Given the description of an element on the screen output the (x, y) to click on. 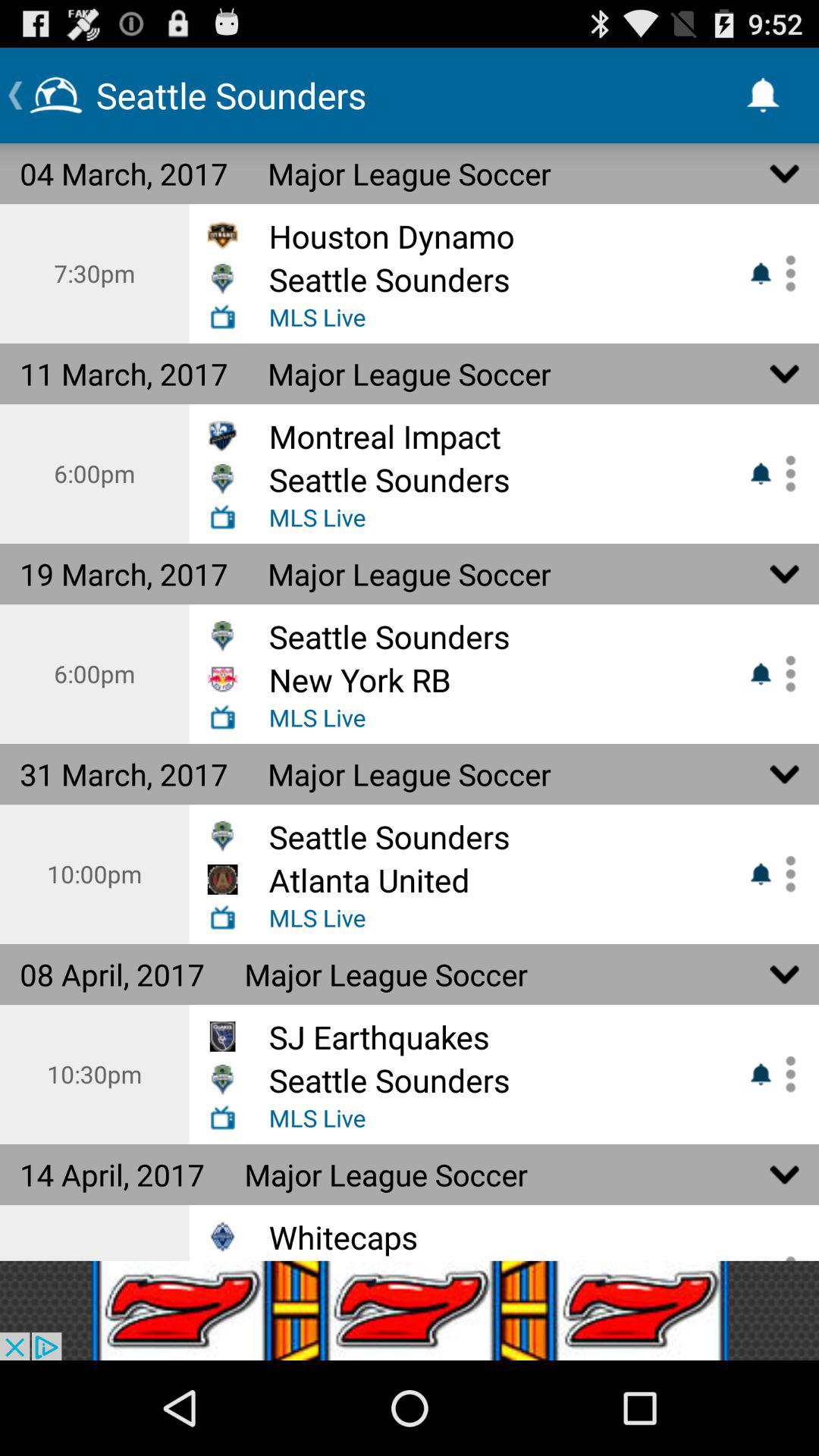
go to customise (785, 673)
